Given the description of an element on the screen output the (x, y) to click on. 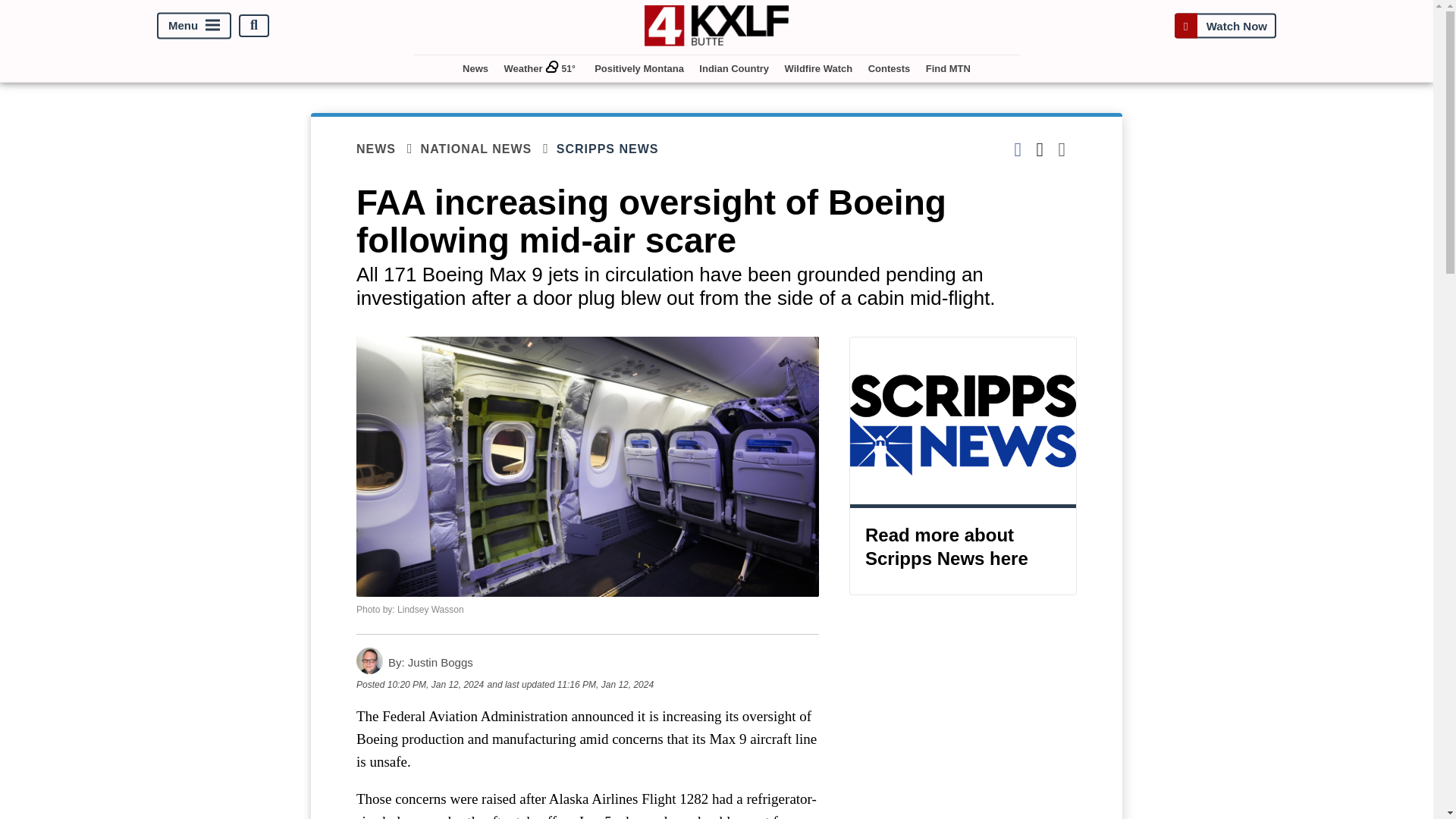
Menu (194, 25)
Watch Now (1224, 24)
